Given the description of an element on the screen output the (x, y) to click on. 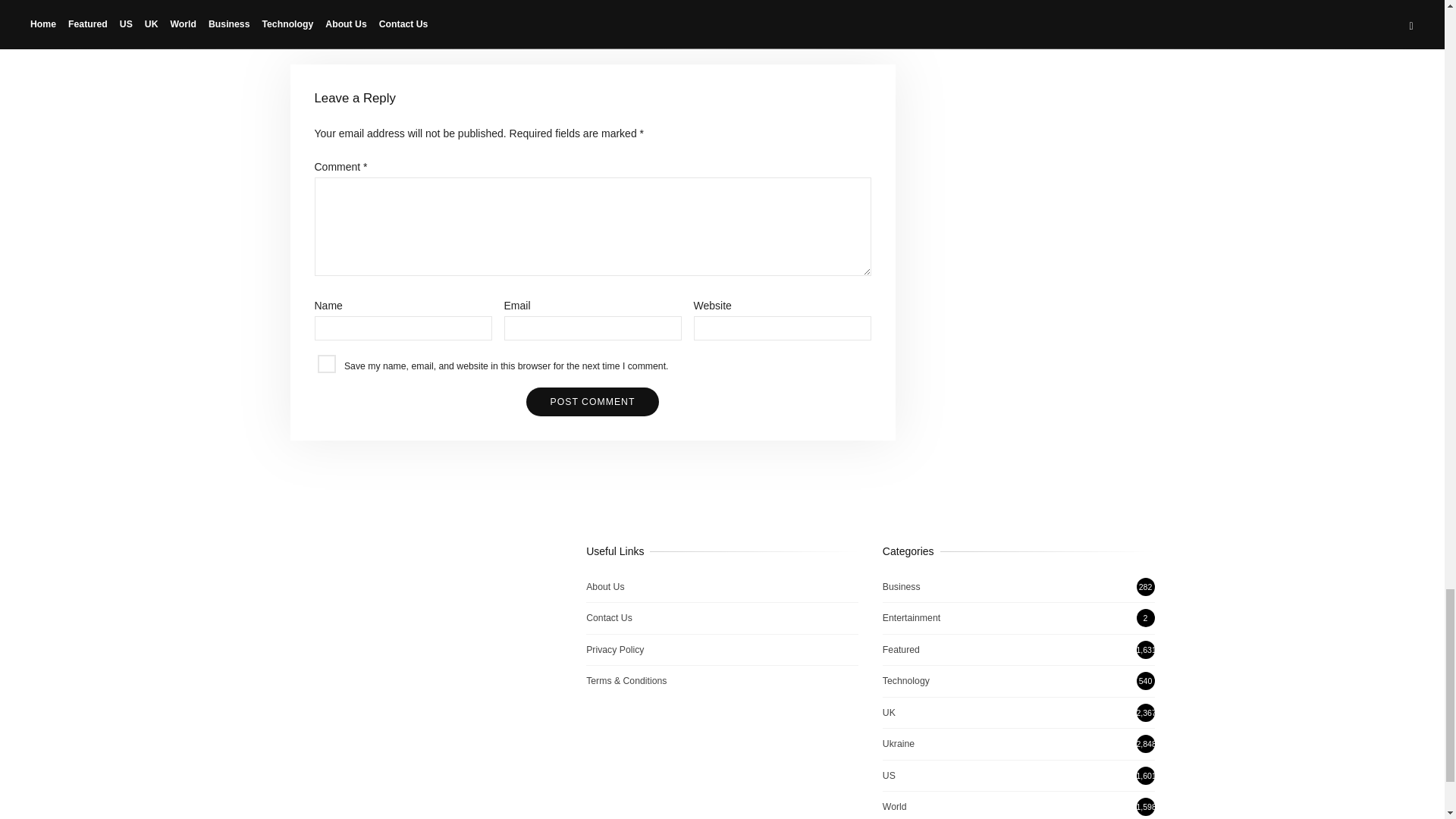
Post Comment (592, 401)
yes (325, 363)
